Given the description of an element on the screen output the (x, y) to click on. 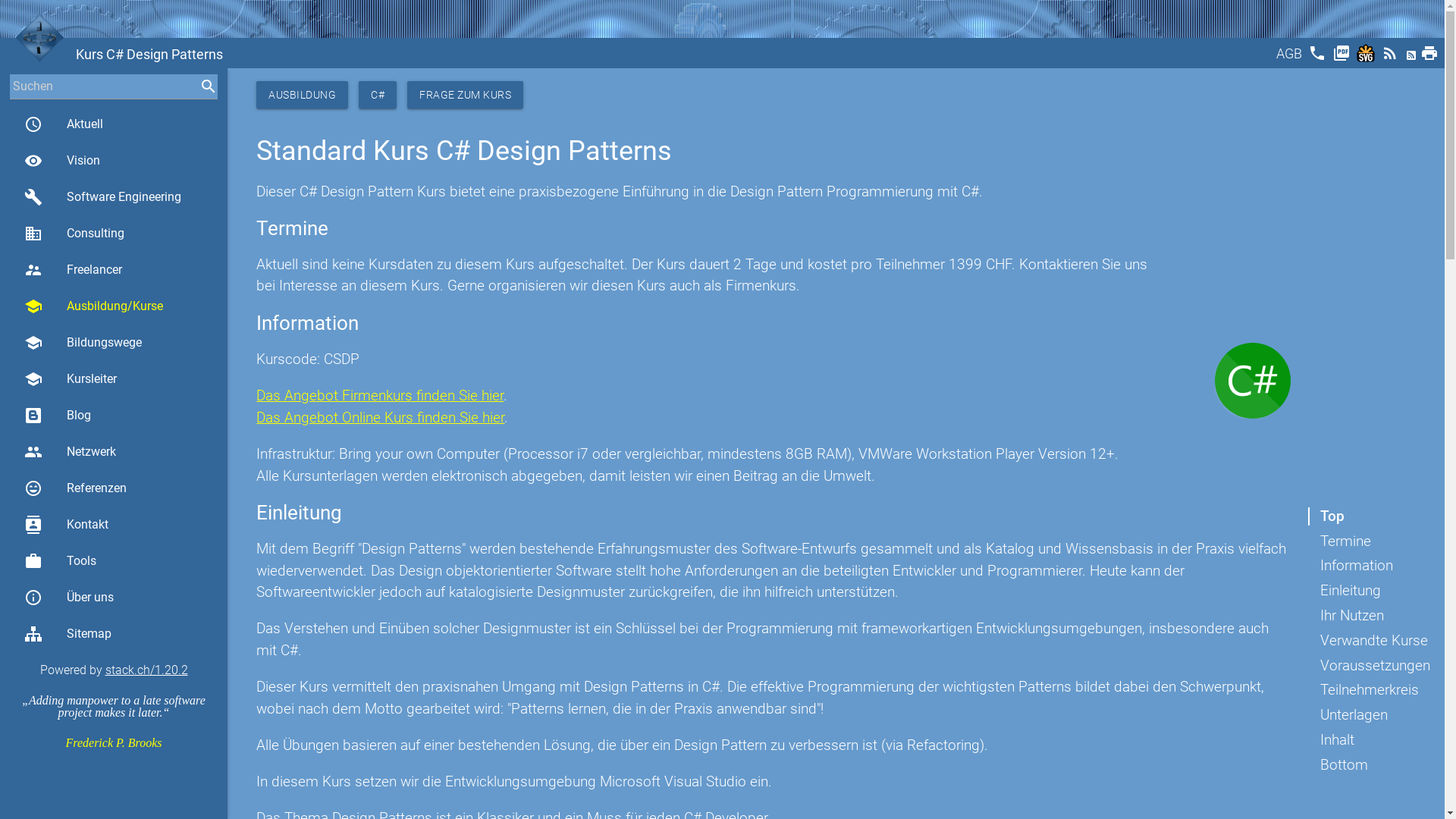
Information Element type: text (1350, 565)
sentiment_very_satisfied
Referenzen Element type: text (113, 488)
access_time
Aktuell Element type: text (113, 124)
Verwandte Kurse Element type: text (1367, 640)
Blog Element type: text (113, 415)
contacts
Kontakt Element type: text (113, 524)
Svg Element type: hover (1366, 57)
school
Kursleiter Element type: text (113, 378)
Inhalt Element type: text (1331, 740)
AGB Element type: text (1290, 57)
visibility
Vision Element type: text (113, 160)
rss_feed Element type: text (1391, 57)
Das Angebot Firmenkurs finden Sie hier Element type: text (379, 395)
school
Ausbildung/Kurse Element type: text (113, 306)
group
Netzwerk Element type: text (113, 451)
Unterlagen Element type: text (1347, 715)
picture_as_pdf Element type: text (1342, 57)
C# Element type: text (377, 94)
AUSBILDUNG Element type: text (302, 94)
Teilnehmerkreis Element type: text (1363, 689)
print Element type: text (1430, 57)
stack.ch/1.20.2 Element type: text (145, 669)
school
Bildungswege Element type: text (113, 342)
Voraussetzungen Element type: text (1369, 665)
Bottom Element type: text (1338, 765)
Das Angebot Online Kurs finden Sie hier Element type: text (380, 417)
FRAGE ZUM KURS Element type: text (465, 94)
Termine Element type: text (1339, 541)
supervisor_account
Freelancer Element type: text (113, 269)
Atom Element type: hover (1412, 57)
business
Consulting Element type: text (113, 233)
work
Tools Element type: text (113, 560)
build
Software Engineering Element type: text (113, 196)
phone Element type: text (1318, 57)
Ihr Nutzen Element type: text (1345, 615)
Sitemap Element type: text (113, 633)
Top Element type: text (1326, 516)
Einleitung Element type: text (1344, 590)
